Given the description of an element on the screen output the (x, y) to click on. 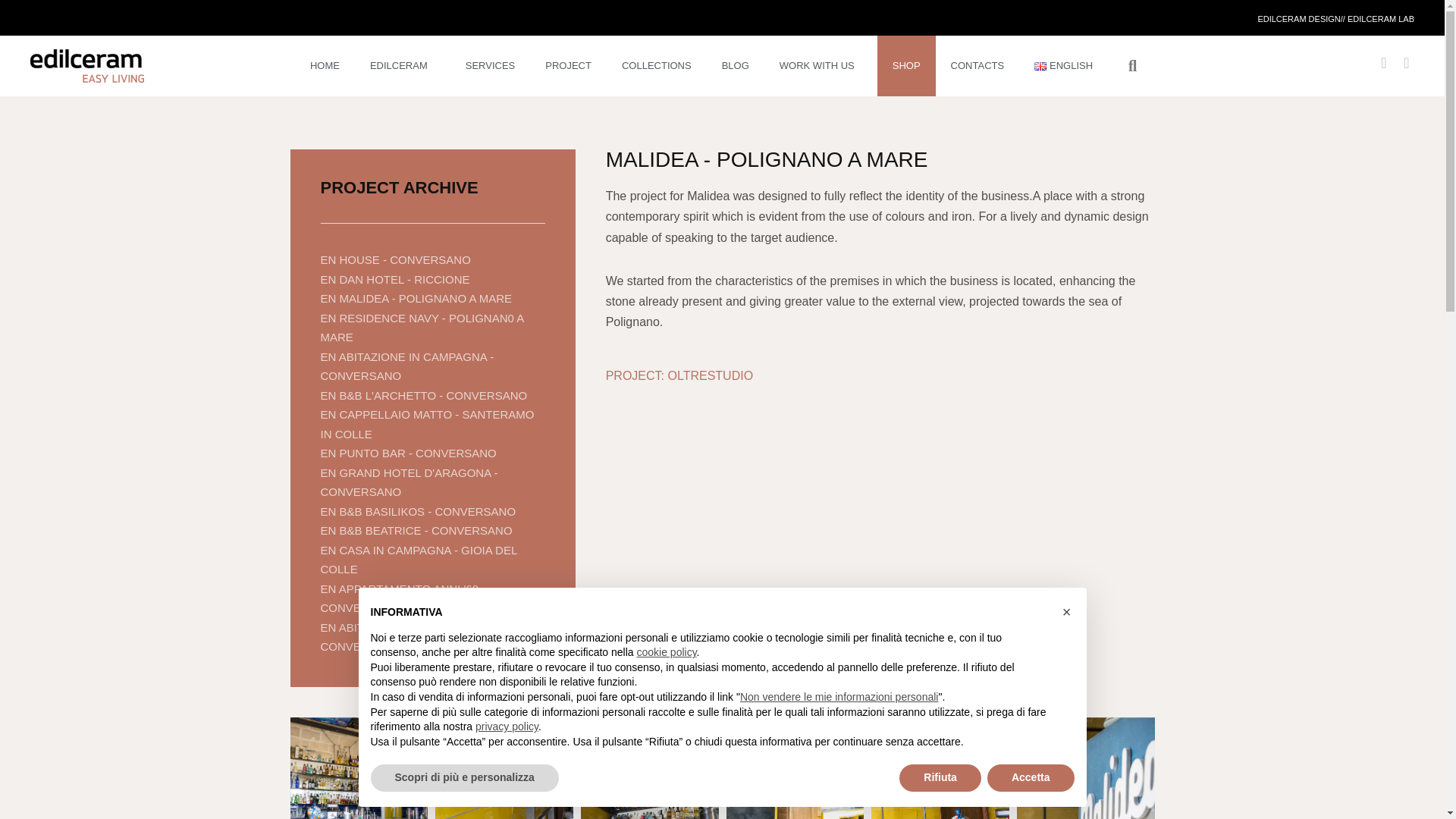
EDILCERAM (402, 66)
EDILCERAM DESIGN (1298, 18)
Skip to content (11, 31)
ENGLISH (1067, 66)
EDILCERAM LAB (1380, 18)
BLOG (735, 66)
SHOP (906, 66)
HOME (325, 66)
WORK WITH US (820, 66)
PROJECT (568, 66)
COLLECTIONS (656, 66)
CONTACTS (978, 66)
SERVICES (490, 66)
